Given the description of an element on the screen output the (x, y) to click on. 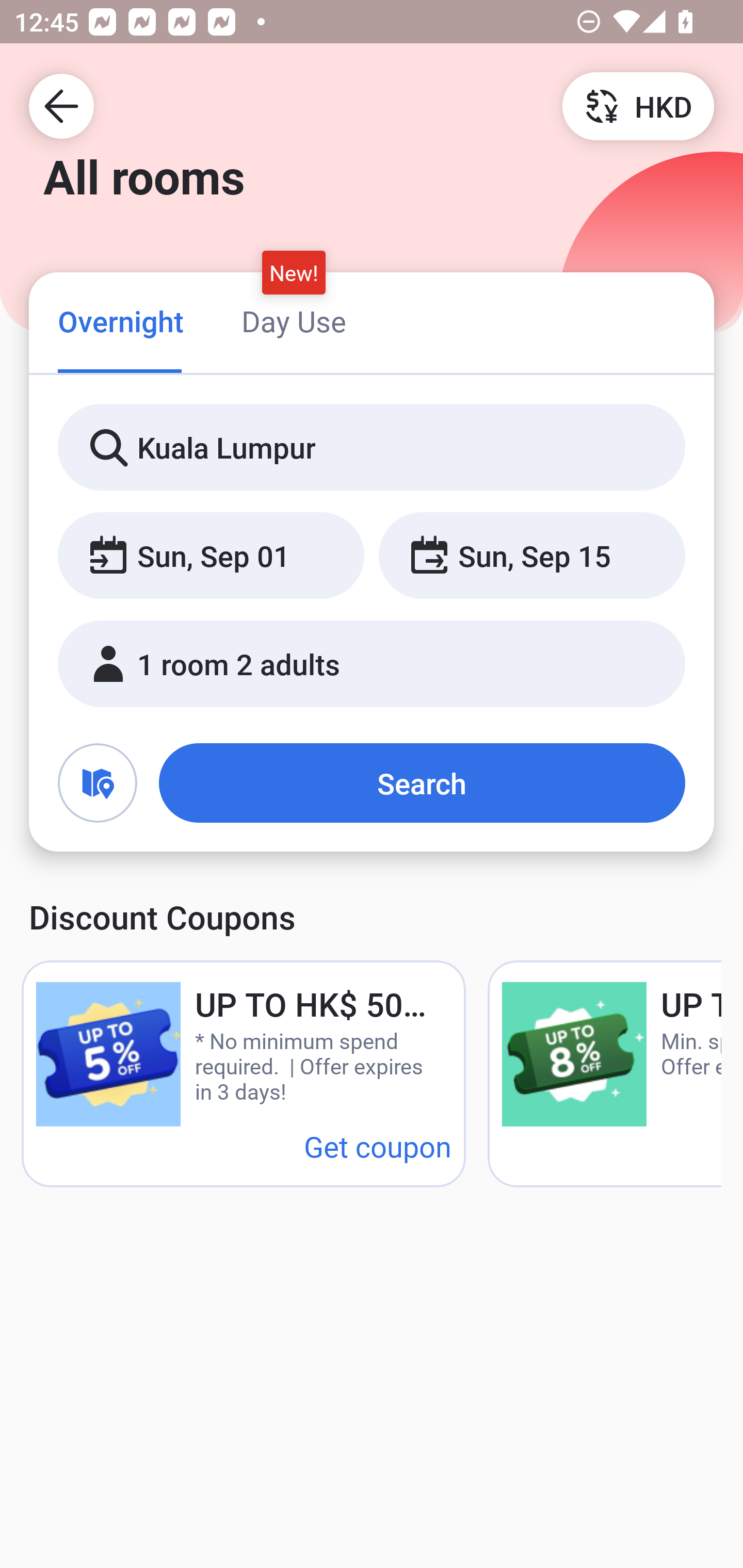
HKD (638, 105)
New! (294, 272)
Day Use (293, 321)
Kuala Lumpur (371, 447)
Sun, Sep 01 (210, 555)
Sun, Sep 15 (531, 555)
1 room 2 adults (371, 663)
Search (422, 783)
Get coupon (377, 1146)
